Given the description of an element on the screen output the (x, y) to click on. 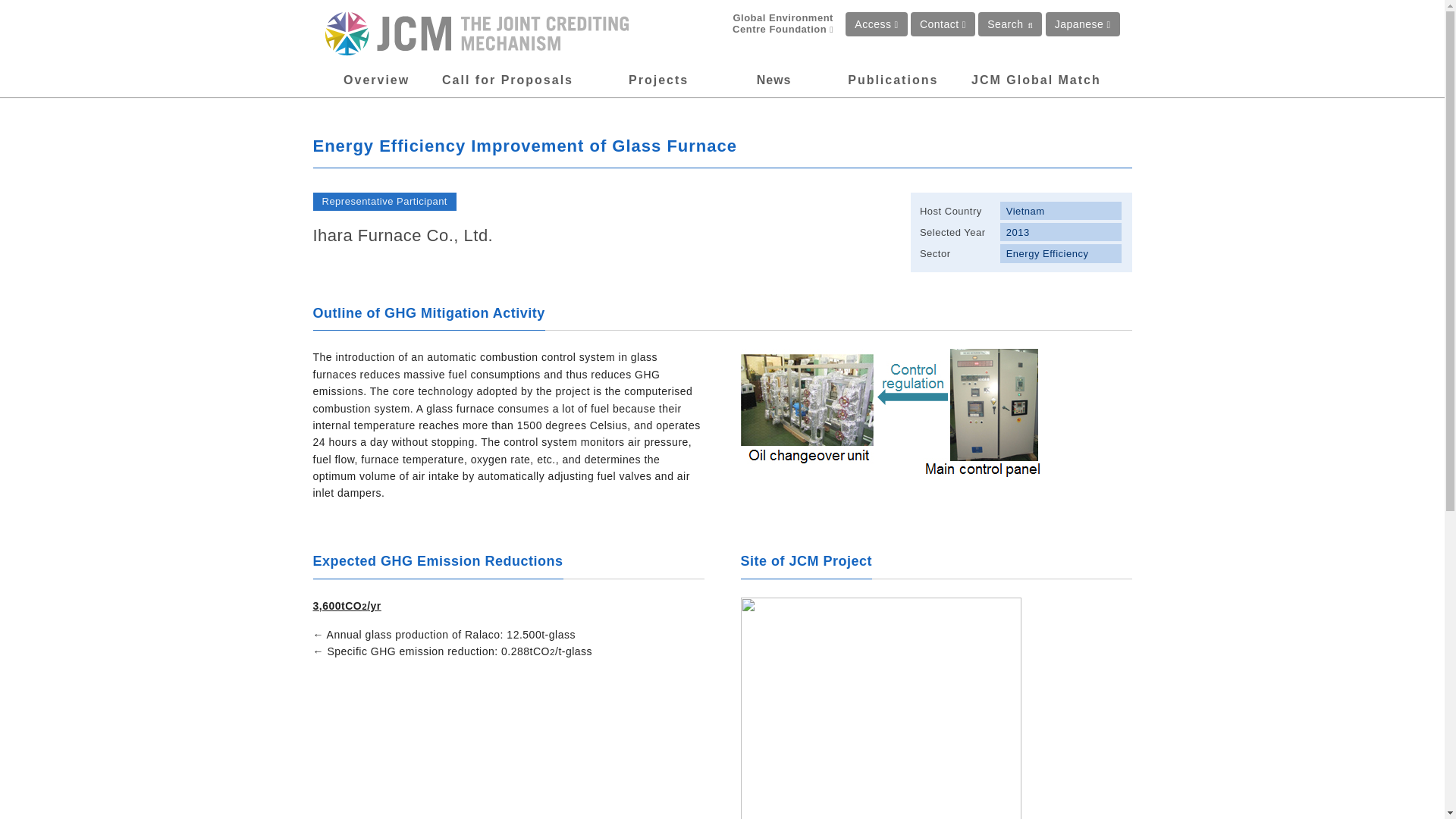
Search (1010, 24)
News (773, 79)
JCM Global Match (1035, 79)
Japanese (1082, 24)
Global Environment Centre Foundation (769, 24)
Vietnam (1061, 210)
Publications (892, 79)
Energy Efficiency (1061, 253)
Access (876, 24)
Contact (943, 24)
Call for Proposals (508, 79)
2013 (1061, 231)
Overview (376, 79)
Projects (658, 79)
